Given the description of an element on the screen output the (x, y) to click on. 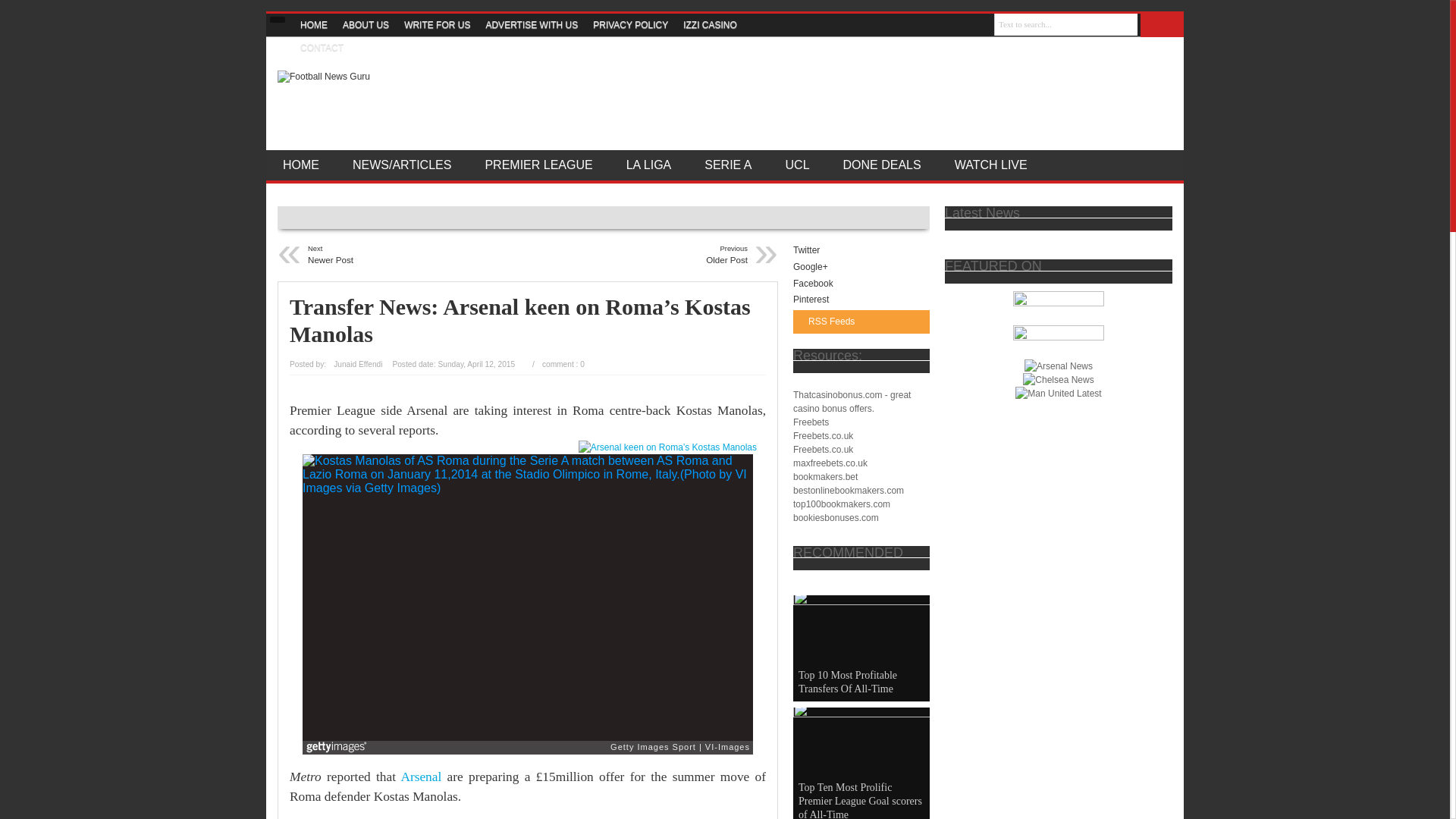
ADVERTISE WITH US (531, 24)
ABOUT US (365, 24)
WRITE FOR US (436, 24)
PRIVACY POLICY (630, 24)
IZZI CASINO (709, 24)
CONTACT (321, 47)
LA LIGA (649, 164)
SERIE A (727, 164)
WATCH LIVE (990, 164)
HOME (313, 24)
Search (655, 255)
UCL (400, 255)
Text to search... (1162, 24)
